Given the description of an element on the screen output the (x, y) to click on. 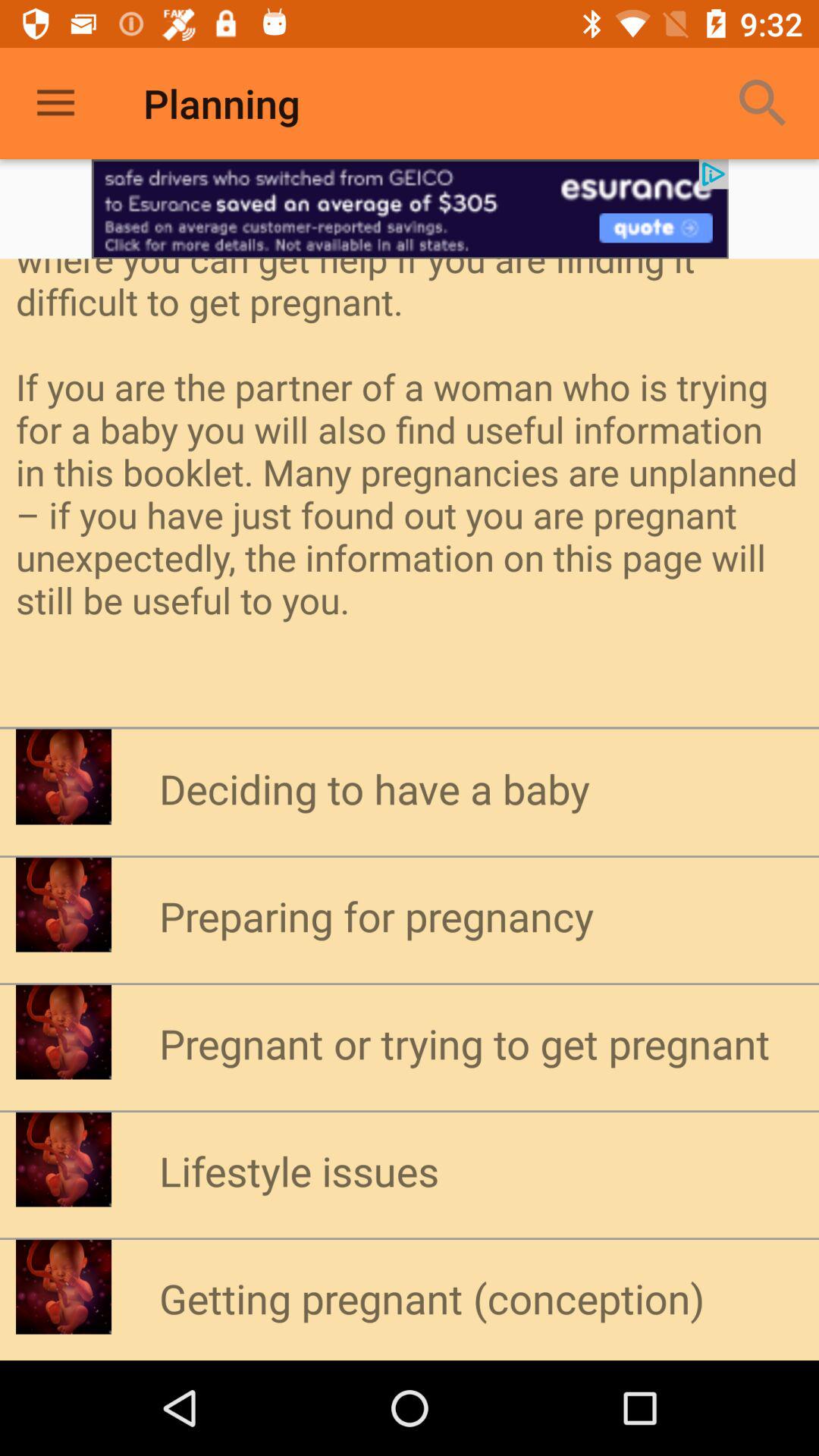
open advertisement (409, 208)
